Given the description of an element on the screen output the (x, y) to click on. 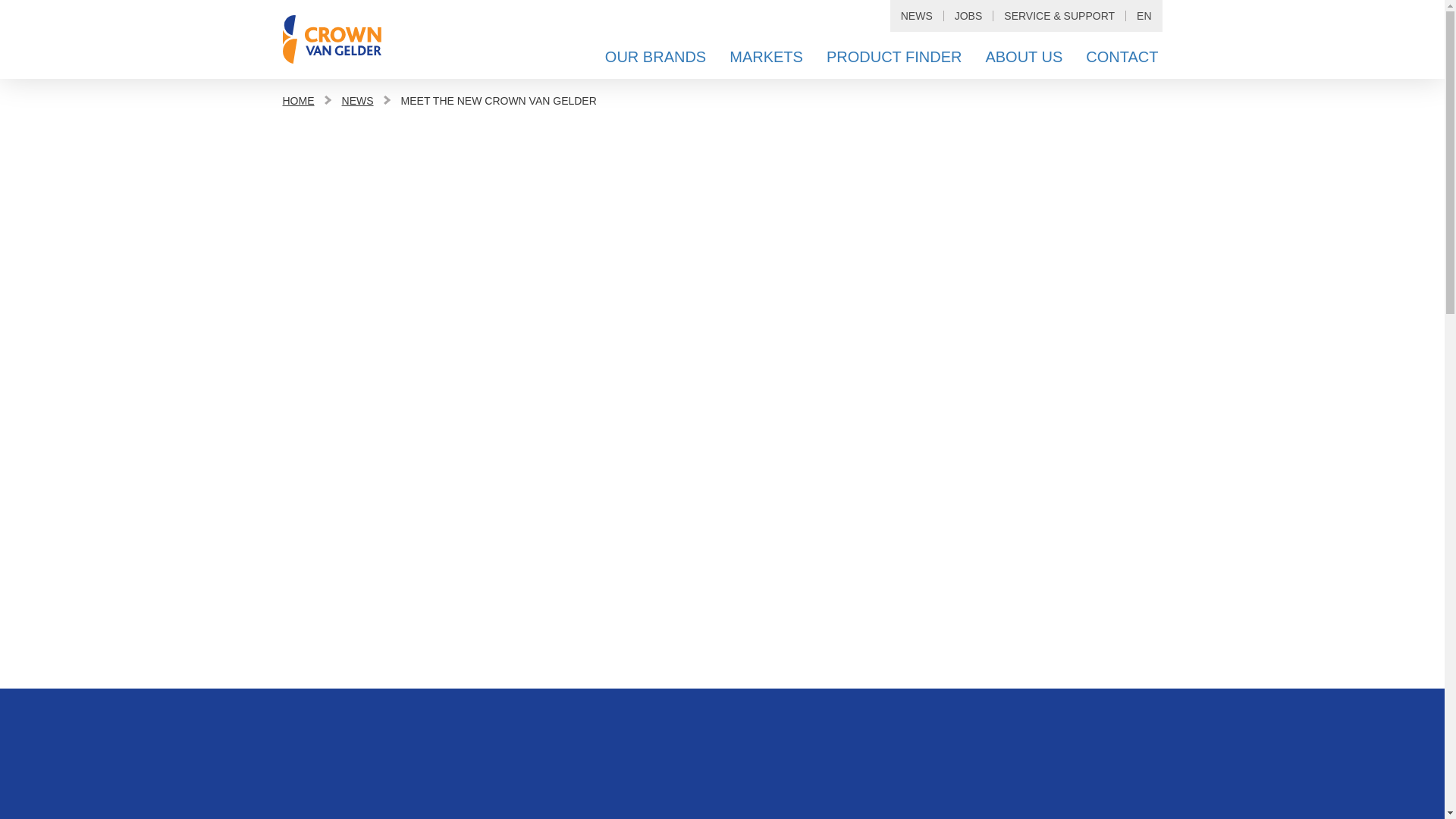
MARKETS (758, 56)
PRODUCT FINDER (887, 56)
HOME (298, 100)
EN (1143, 15)
Group 440asd3 (331, 39)
ABOUT US (1015, 56)
NEWS (358, 100)
EN (1143, 15)
JOBS (967, 15)
OUR BRANDS (648, 56)
NEWS (916, 15)
CONTACT (1114, 56)
